Given the description of an element on the screen output the (x, y) to click on. 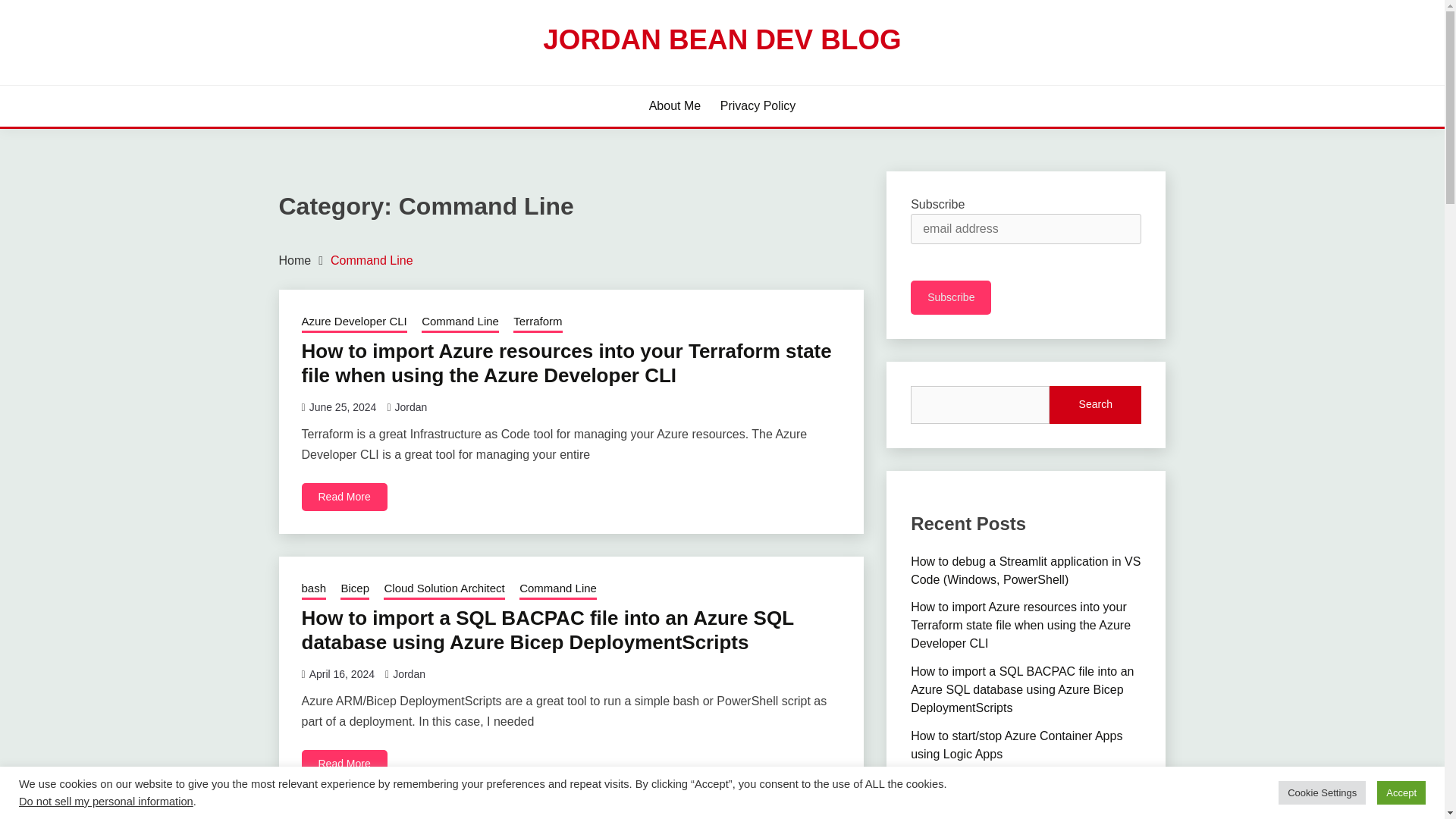
Command Line (557, 589)
Jordan (410, 407)
Azure Developer CLI (354, 322)
JORDAN BEAN DEV BLOG (722, 39)
Command Line (371, 259)
Subscribe (951, 297)
Privacy Policy (758, 106)
bash (313, 589)
